Given the description of an element on the screen output the (x, y) to click on. 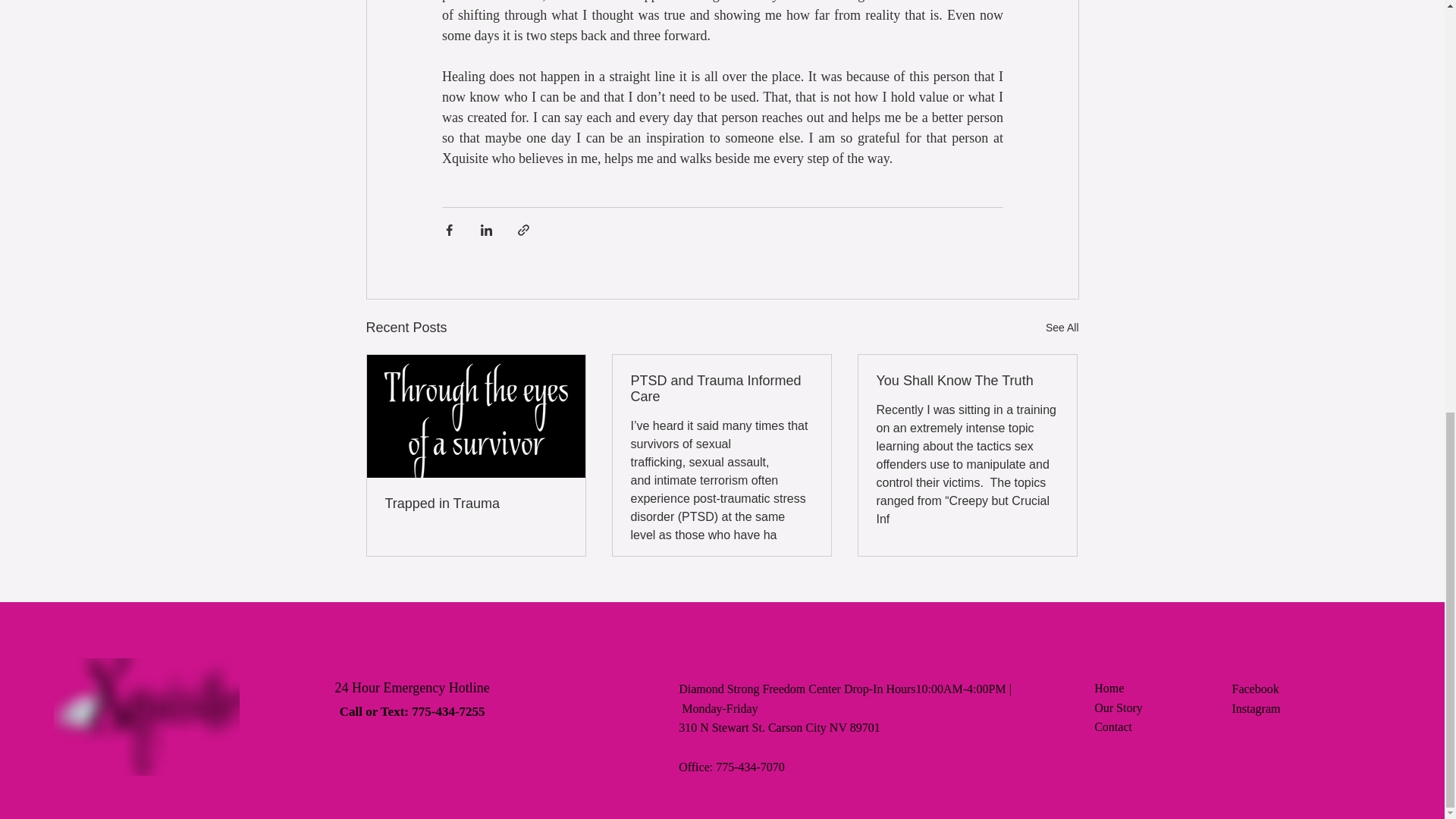
Contact (1113, 726)
Home (1109, 687)
See All (1061, 327)
Facebook (1254, 688)
Trapped in Trauma (476, 503)
PTSD and Trauma Informed Care  (721, 388)
Instagram (1255, 707)
You Shall Know The Truth (967, 381)
